Given the description of an element on the screen output the (x, y) to click on. 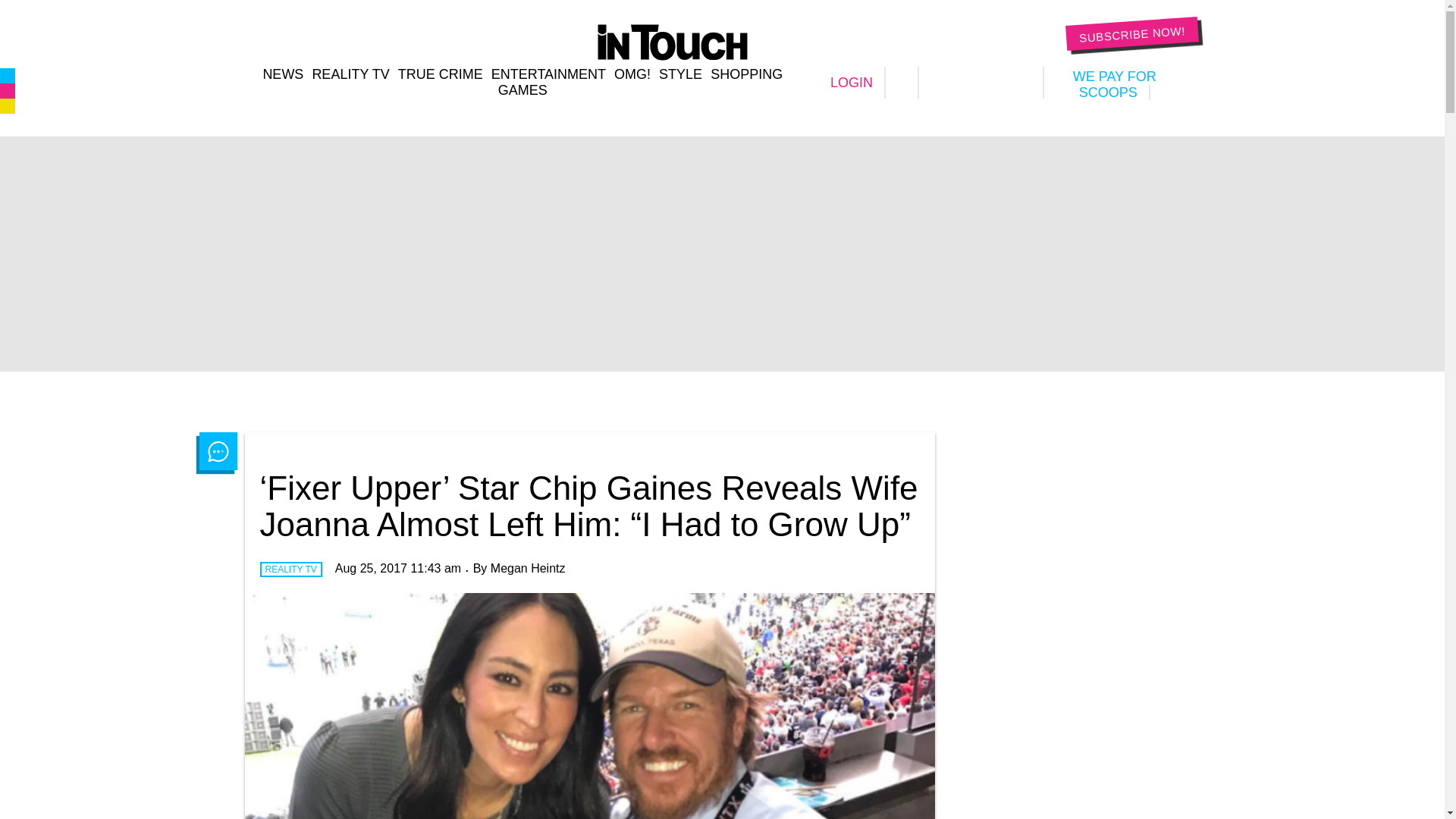
REALITY TV (349, 73)
TRUE CRIME (440, 73)
Posts by Megan Heintz (528, 567)
NEWS (282, 73)
